Given the description of an element on the screen output the (x, y) to click on. 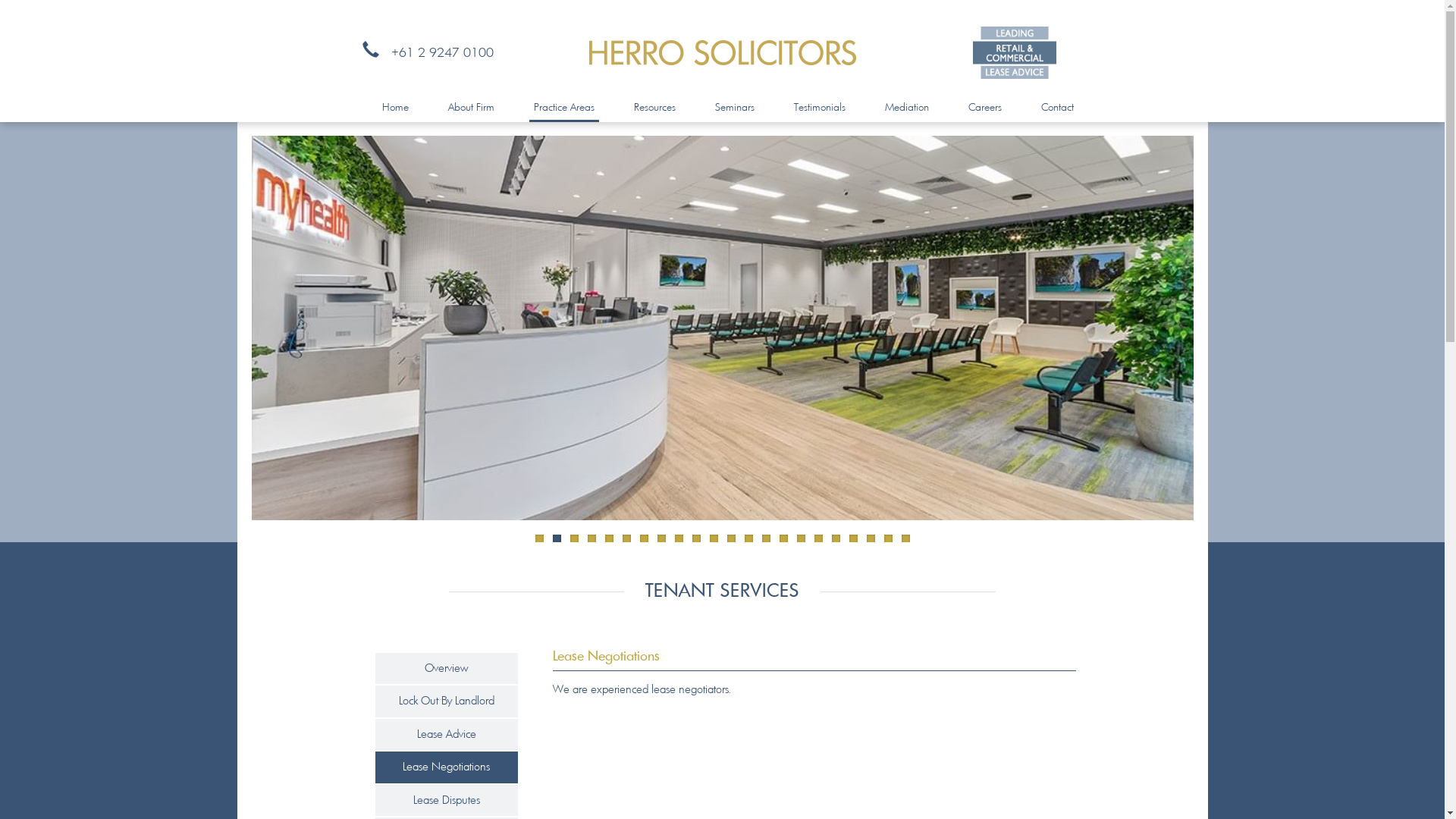
Lease Advice Element type: text (446, 734)
22 Element type: text (904, 542)
18 Element type: text (835, 542)
16 Element type: text (800, 542)
4 Element type: text (590, 542)
14 Element type: text (765, 542)
Seminars Element type: text (733, 107)
Lock Out By Landlord Element type: text (446, 700)
15 Element type: text (783, 542)
Careers Element type: text (984, 107)
Practice Areas Element type: text (563, 107)
Contact Element type: text (1056, 107)
About Firm Element type: text (470, 107)
Home Element type: text (395, 107)
Lease Negotiations Element type: text (445, 766)
9 Element type: text (678, 542)
13 Element type: text (748, 542)
5 Element type: text (609, 542)
1 Element type: text (539, 542)
8 Element type: text (660, 542)
12 Element type: text (730, 542)
Mediation Element type: text (906, 107)
11 Element type: text (713, 542)
7 Element type: text (644, 542)
6 Element type: text (625, 542)
19 Element type: text (853, 542)
21 Element type: text (888, 542)
10 Element type: text (695, 542)
20 Element type: text (870, 542)
Overview Element type: text (445, 668)
Resources Element type: text (654, 107)
2 Element type: text (556, 542)
Lease Disputes Element type: text (446, 800)
Testimonials Element type: text (818, 107)
17 Element type: text (818, 542)
+61 2 9247 0100 Element type: text (421, 52)
3 Element type: text (574, 542)
